Given the description of an element on the screen output the (x, y) to click on. 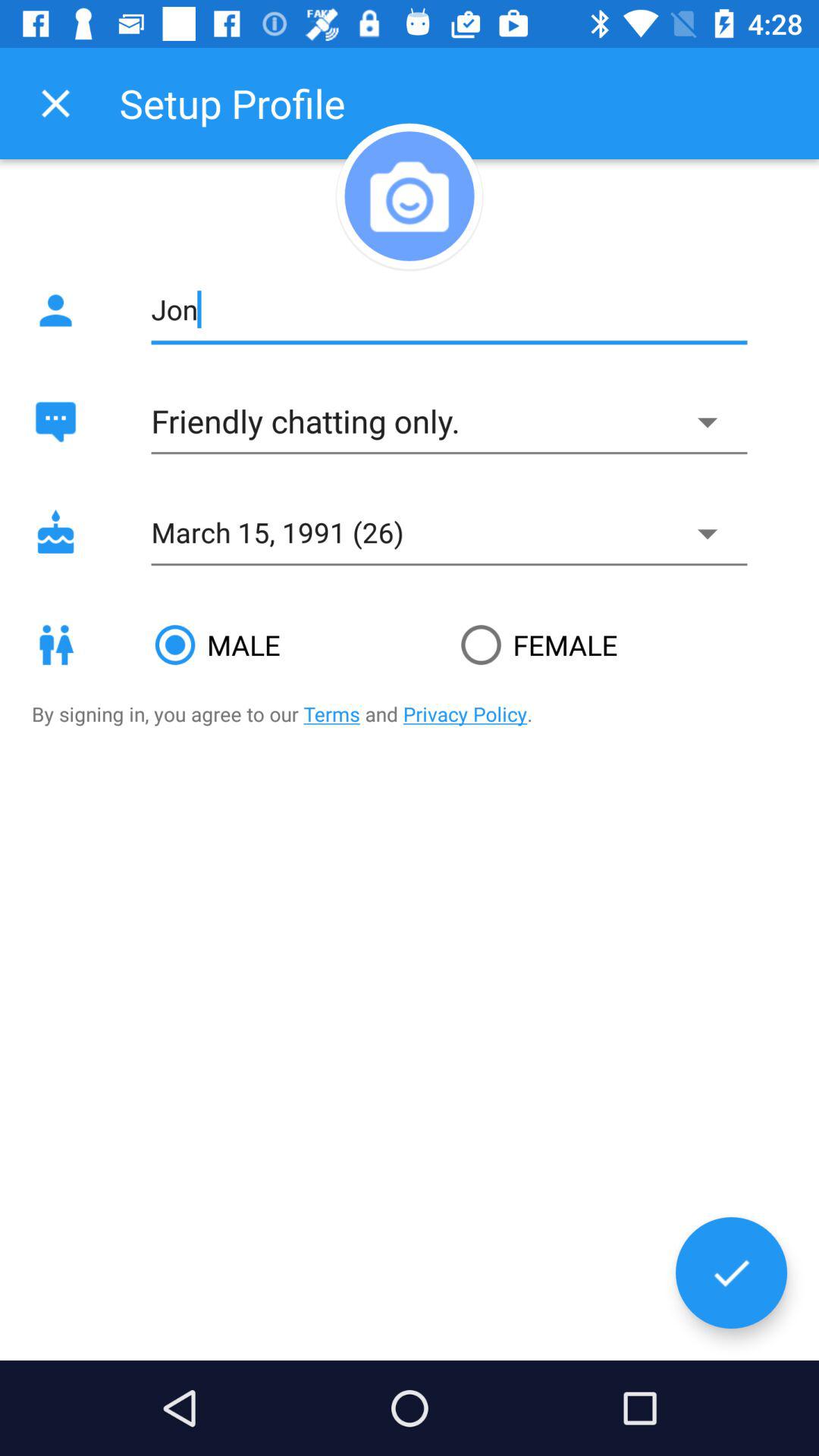
click okay (731, 1272)
